Given the description of an element on the screen output the (x, y) to click on. 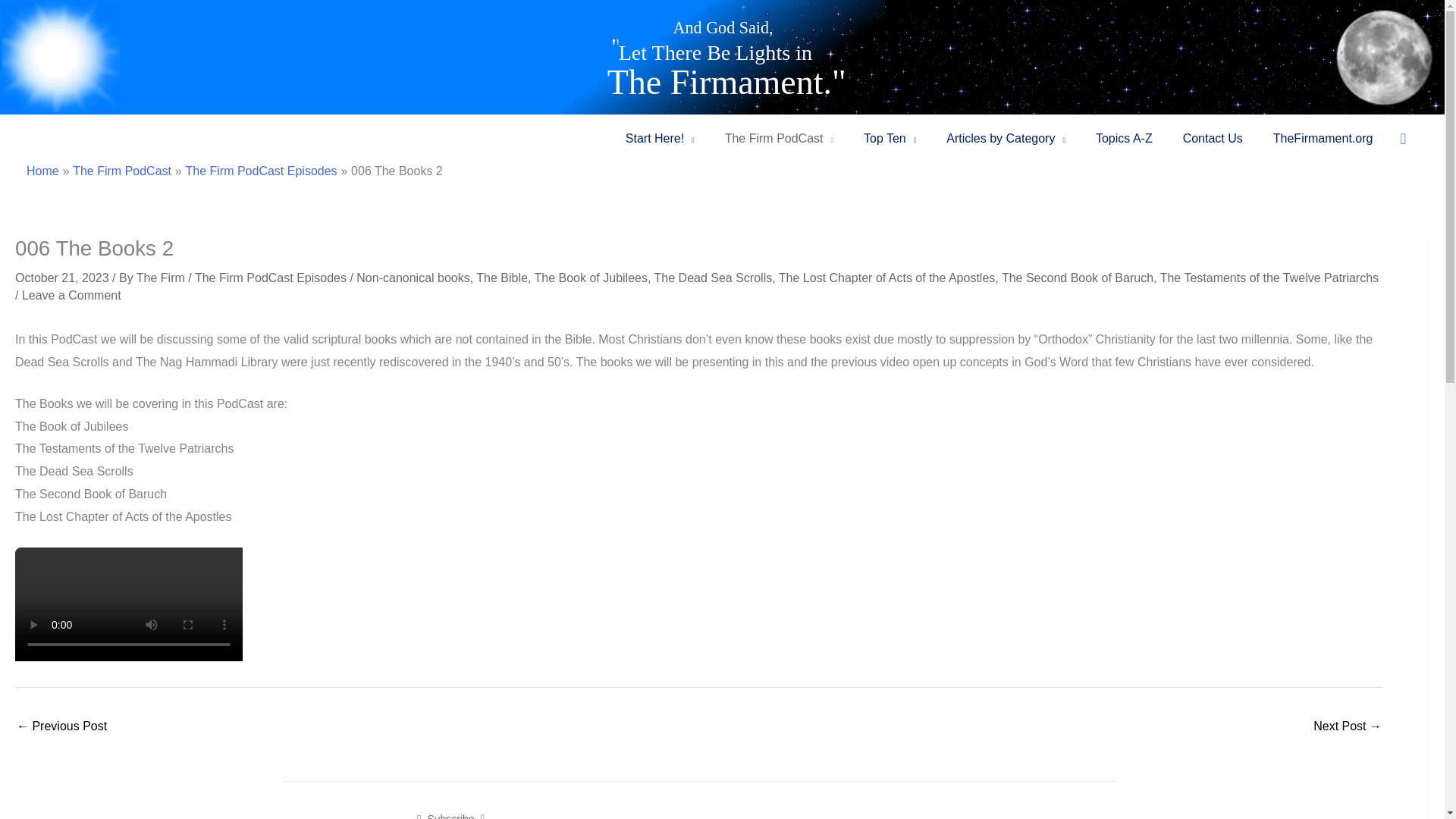
007 The Promised Land (1347, 727)
005 The Books 1 (61, 727)
The Firm PodCast (779, 138)
View all posts by The Firm (161, 277)
Start Here! (660, 138)
